Given the description of an element on the screen output the (x, y) to click on. 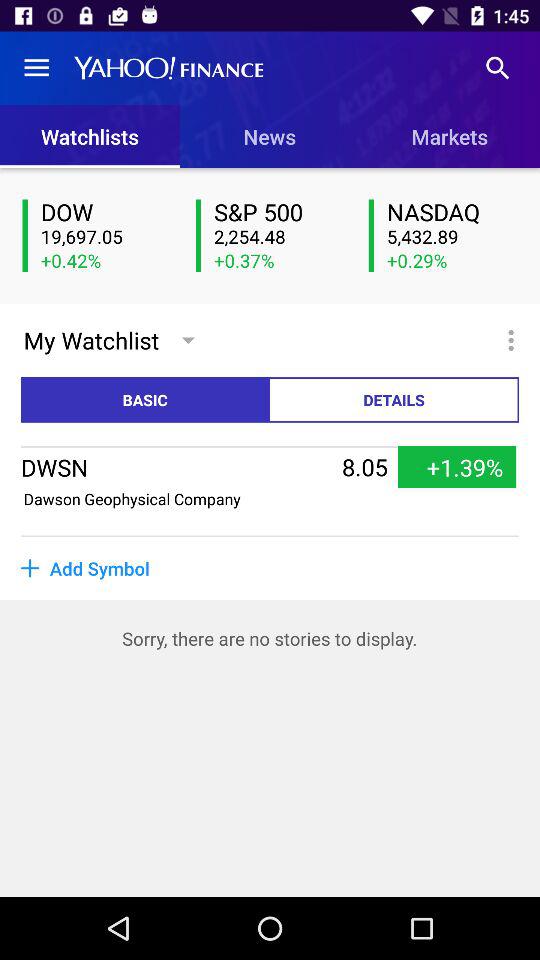
press dawson geophysical company item (131, 498)
